Given the description of an element on the screen output the (x, y) to click on. 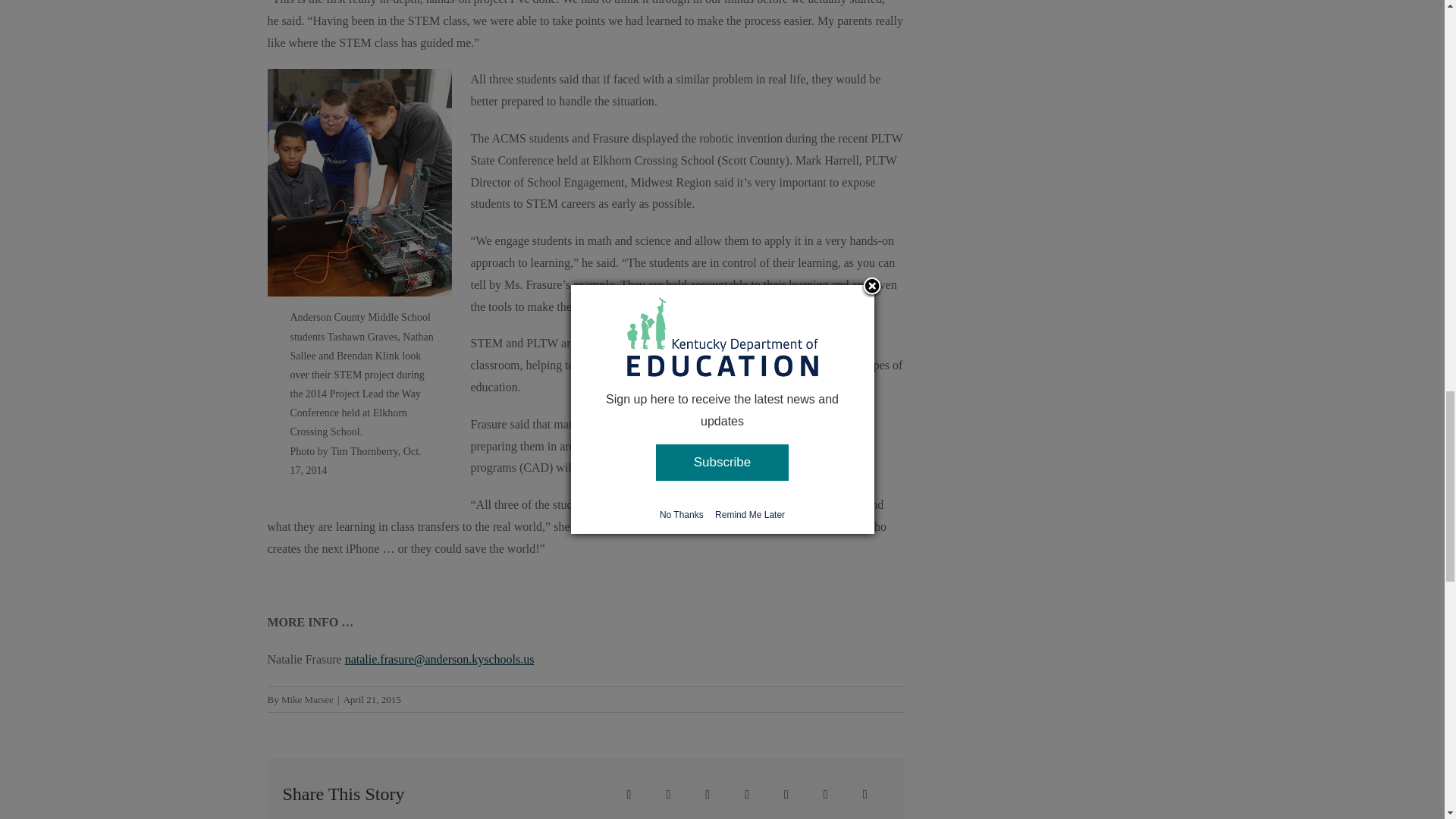
Posts by Mike Marsee (307, 699)
